Given the description of an element on the screen output the (x, y) to click on. 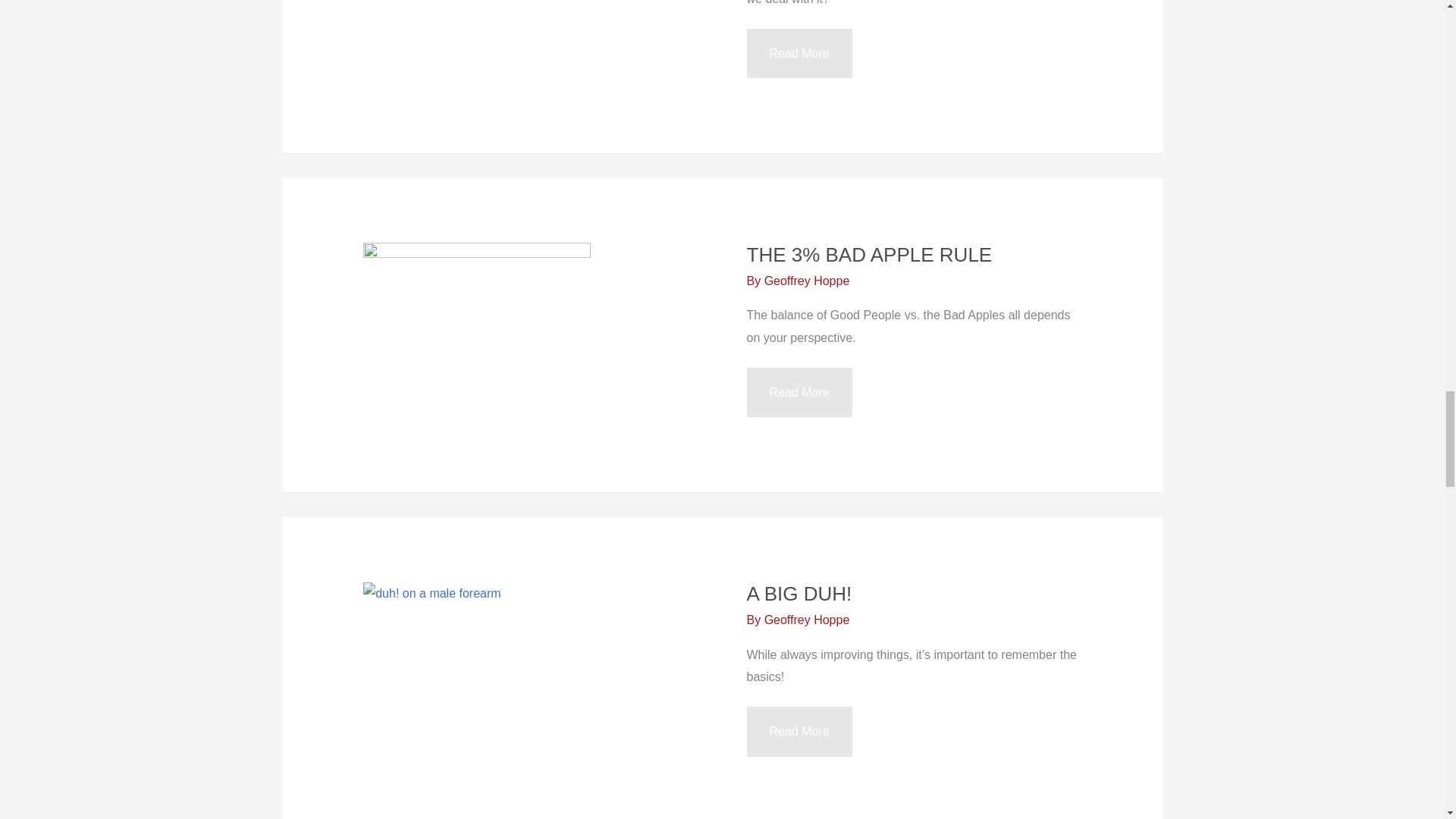
View all posts by Geoffrey Hoppe (807, 619)
View all posts by Geoffrey Hoppe (807, 280)
